Given the description of an element on the screen output the (x, y) to click on. 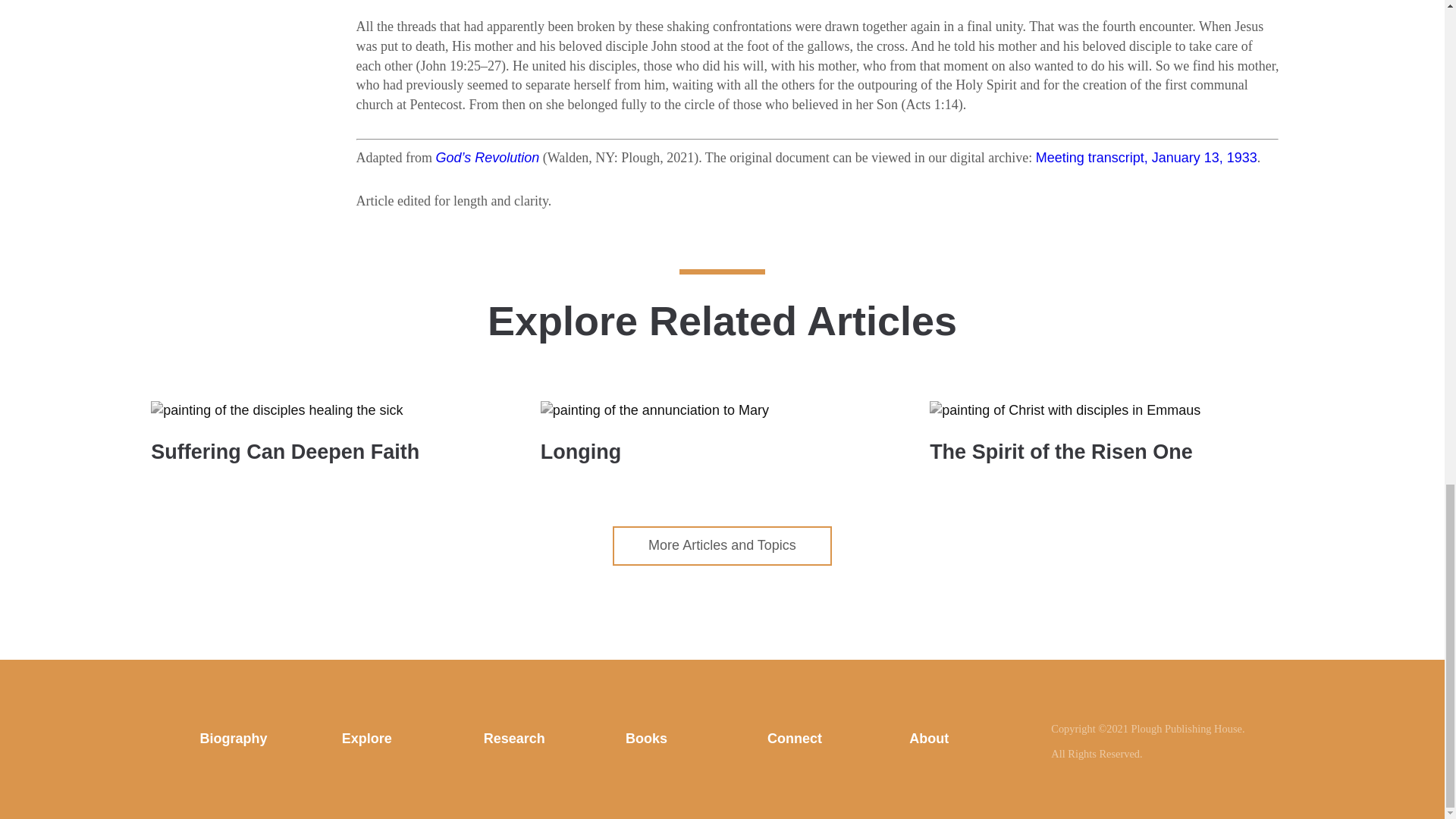
opens new window (487, 157)
Suffering Can Deepen Faith (333, 438)
Longing (722, 438)
Meeting transcript, January 13, 1933 (1146, 157)
Explore (366, 738)
Books (646, 738)
Research (513, 738)
Connect (794, 738)
The Spirit of the Risen One (1112, 438)
More Articles and Topics (721, 545)
